Given the description of an element on the screen output the (x, y) to click on. 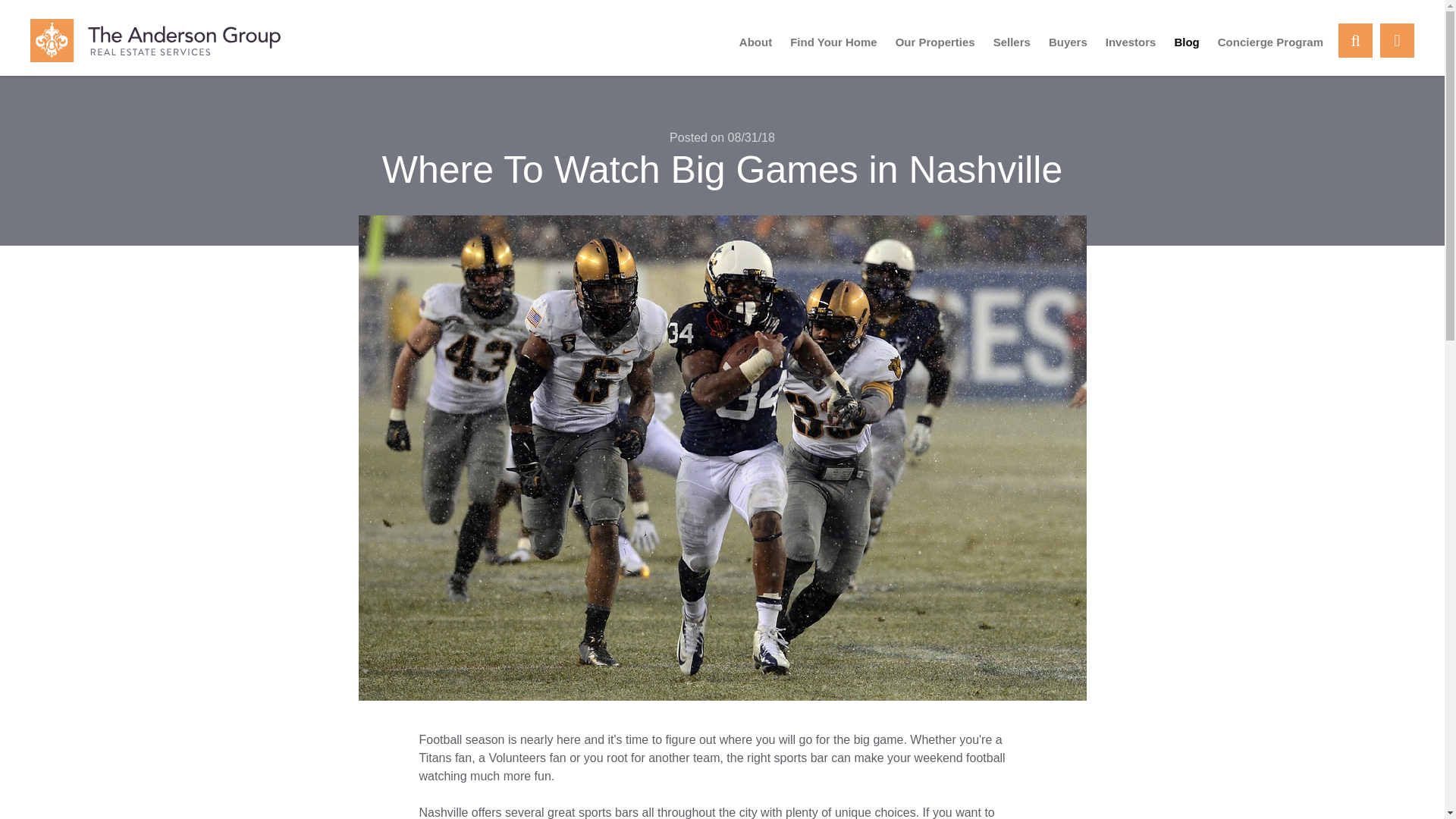
Our Properties (935, 42)
Concierge Program (1270, 42)
Find Your Home (832, 42)
About (755, 42)
Buyers (1067, 42)
Sellers (1011, 42)
Blog (1186, 42)
Investors (1131, 42)
